Given the description of an element on the screen output the (x, y) to click on. 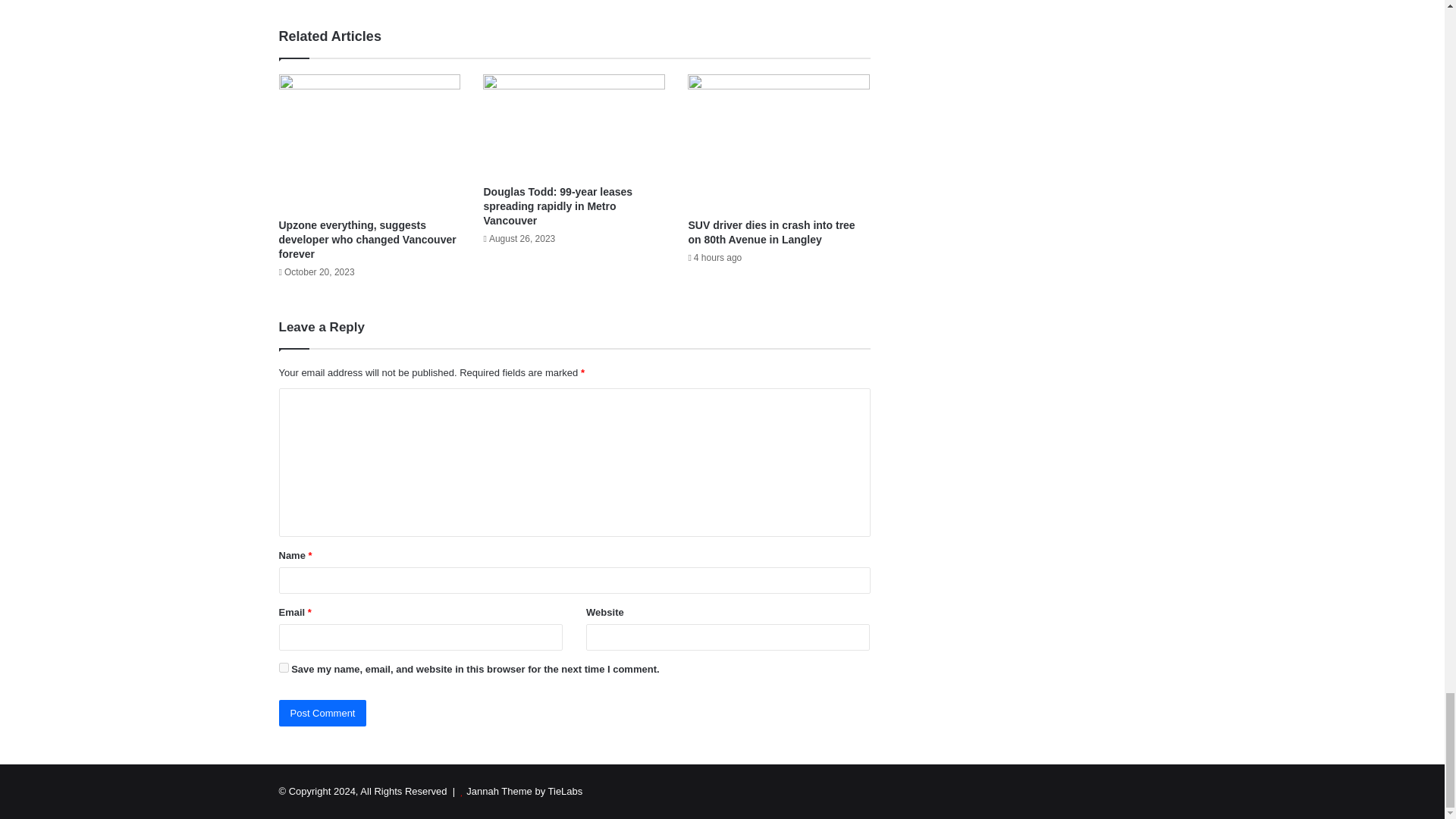
yes (283, 667)
Post Comment (322, 713)
